Given the description of an element on the screen output the (x, y) to click on. 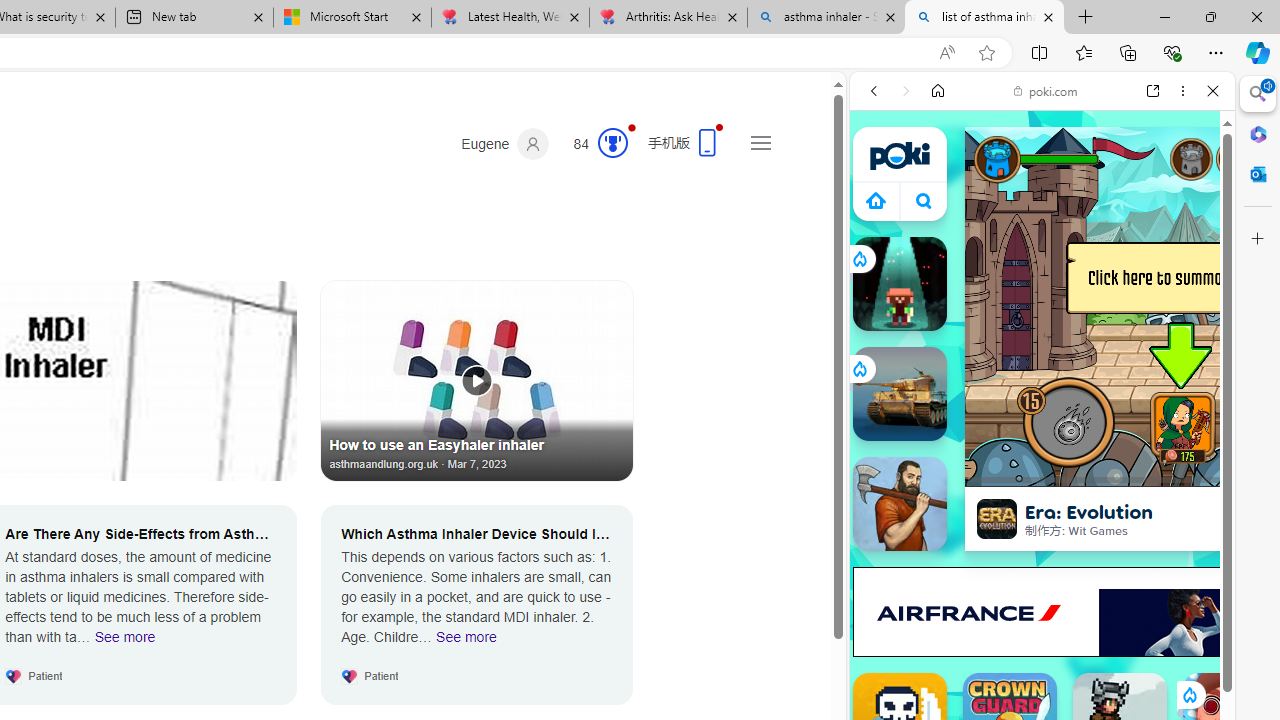
asthma inhaler - Search (825, 17)
SEARCH TOOLS (1093, 228)
Settings and quick links (760, 142)
Car Games (1042, 470)
poki.com (1046, 90)
Shooting Games (1042, 519)
AutomationID: serp_medal_svg (612, 142)
Microsoft Rewards 84 (594, 143)
Show More Io Games (1164, 619)
